Given the description of an element on the screen output the (x, y) to click on. 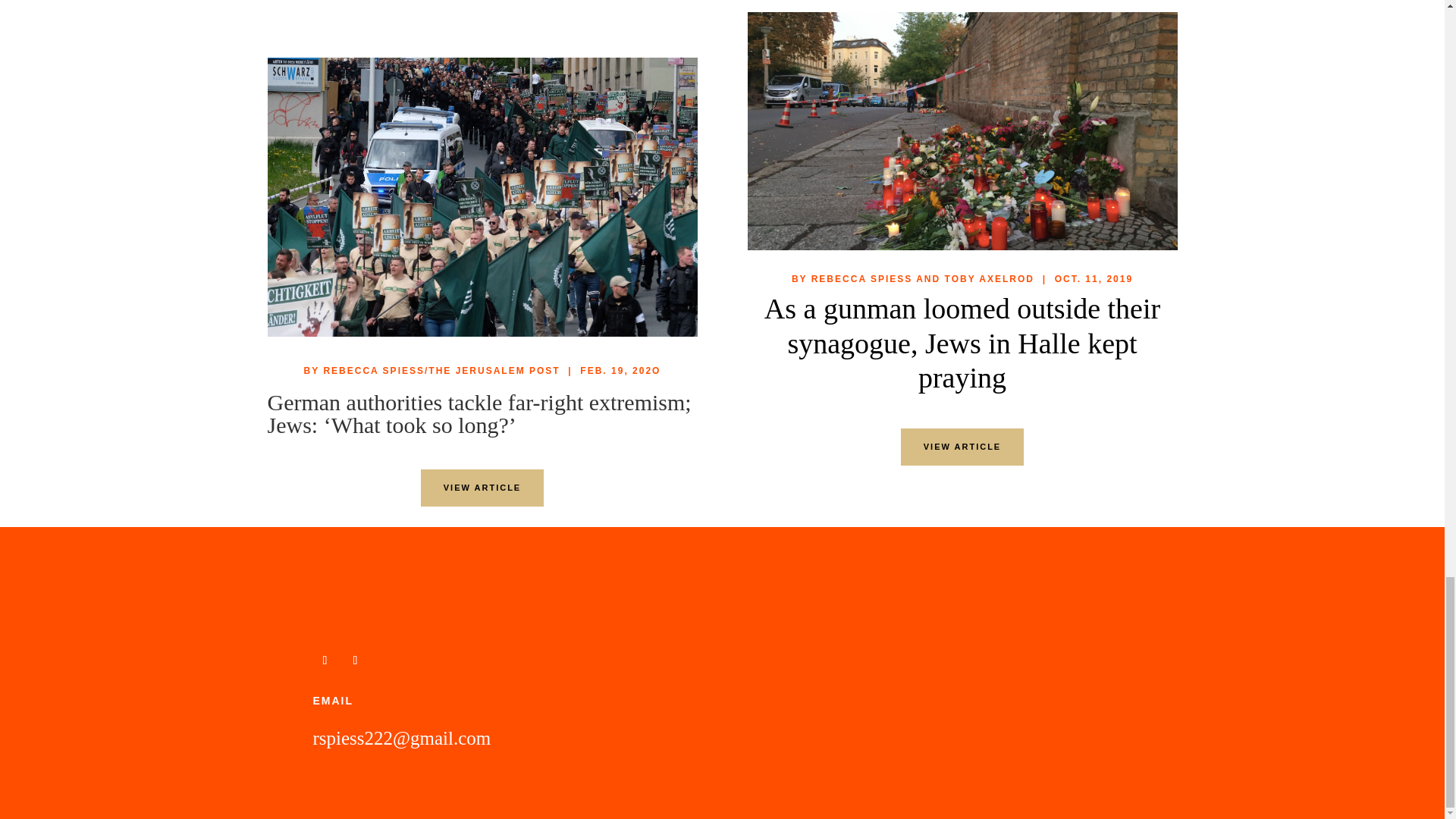
VIEW ARTICLE (962, 447)
REBECCA SPIESS (861, 278)
Halle Shooting (962, 130)
Follow on Twitter (324, 660)
Follow on LinkedIn (354, 660)
VIEW ARTICLE (481, 487)
TOBY AXELROD (988, 278)
